Given the description of an element on the screen output the (x, y) to click on. 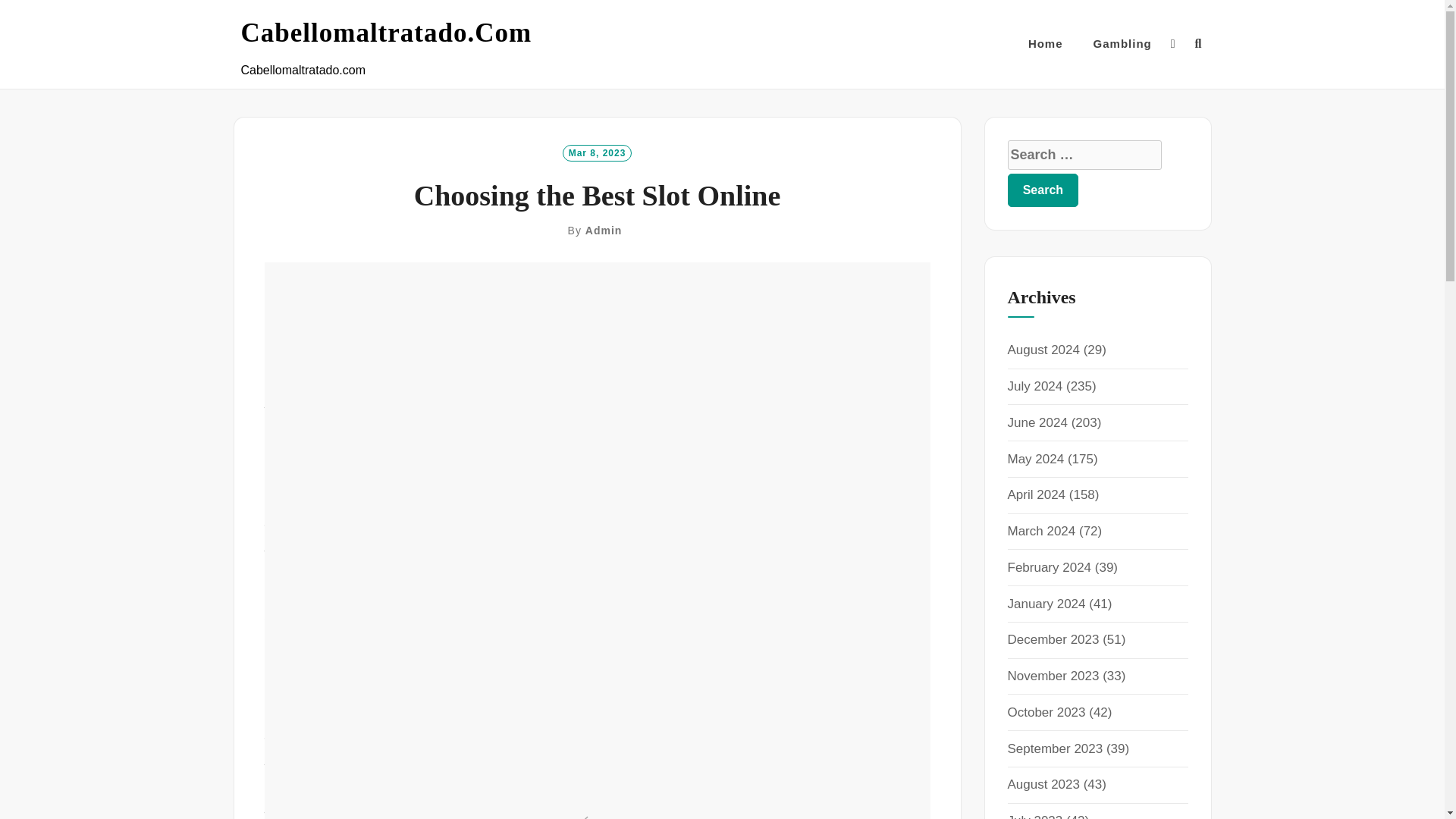
Mar 8, 2023 (596, 152)
Search (1042, 190)
April 2024 (1036, 494)
Cabellomaltratado.Com (386, 33)
Search (1042, 190)
May 2024 (1035, 459)
July 2023 (1034, 816)
July 2024 (1034, 386)
Search (730, 427)
December 2023 (1053, 639)
August 2023 (1042, 784)
Home (1044, 44)
October 2023 (1045, 712)
Gambling (1122, 44)
March 2024 (1041, 531)
